Given the description of an element on the screen output the (x, y) to click on. 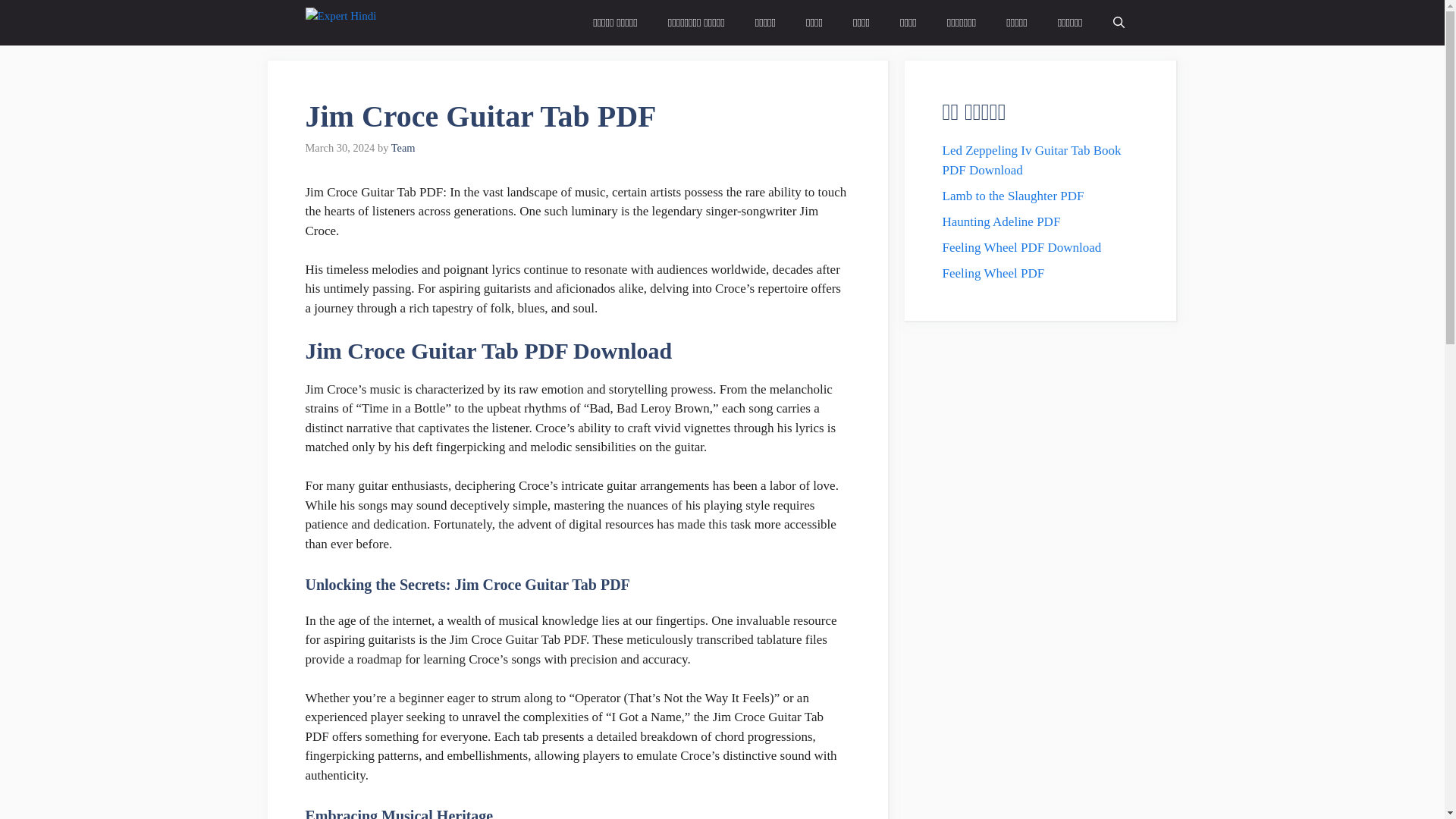
Team (402, 147)
Expert Hindi (374, 22)
View all posts by Team (402, 147)
Feeling Wheel PDF (992, 272)
Lamb to the Slaughter PDF (1012, 195)
Feeling Wheel PDF Download (1021, 246)
Led Zeppeling Iv Guitar Tab Book PDF Download (1031, 160)
Haunting Adeline PDF (1000, 220)
